Given the description of an element on the screen output the (x, y) to click on. 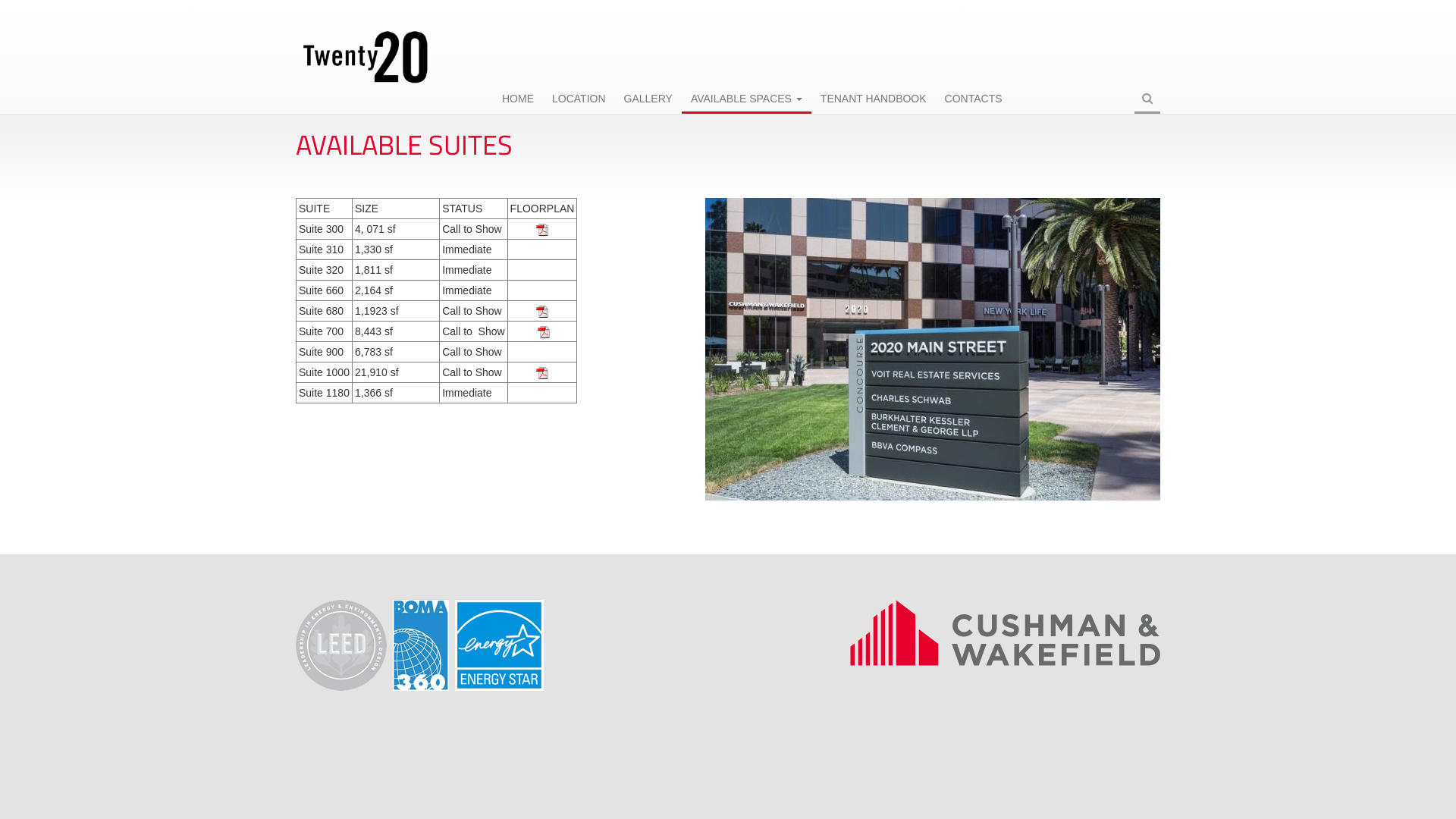
2020_-_Suite_1000.pdf Element type: hover (542, 372)
CONTACTS Element type: text (973, 99)
LOCATION Element type: text (578, 99)
HOME Element type: text (517, 99)
2020_-_Suite_680.pdf Element type: hover (542, 310)
GALLERY Element type: text (648, 99)
2020_-_Suite_300.pdf Element type: hover (542, 228)
AVAILABLE SPACES Element type: text (746, 99)
TENANT HANDBOOK Element type: text (873, 99)
2020_-_Suite_700.pdf Element type: hover (543, 331)
